Given the description of an element on the screen output the (x, y) to click on. 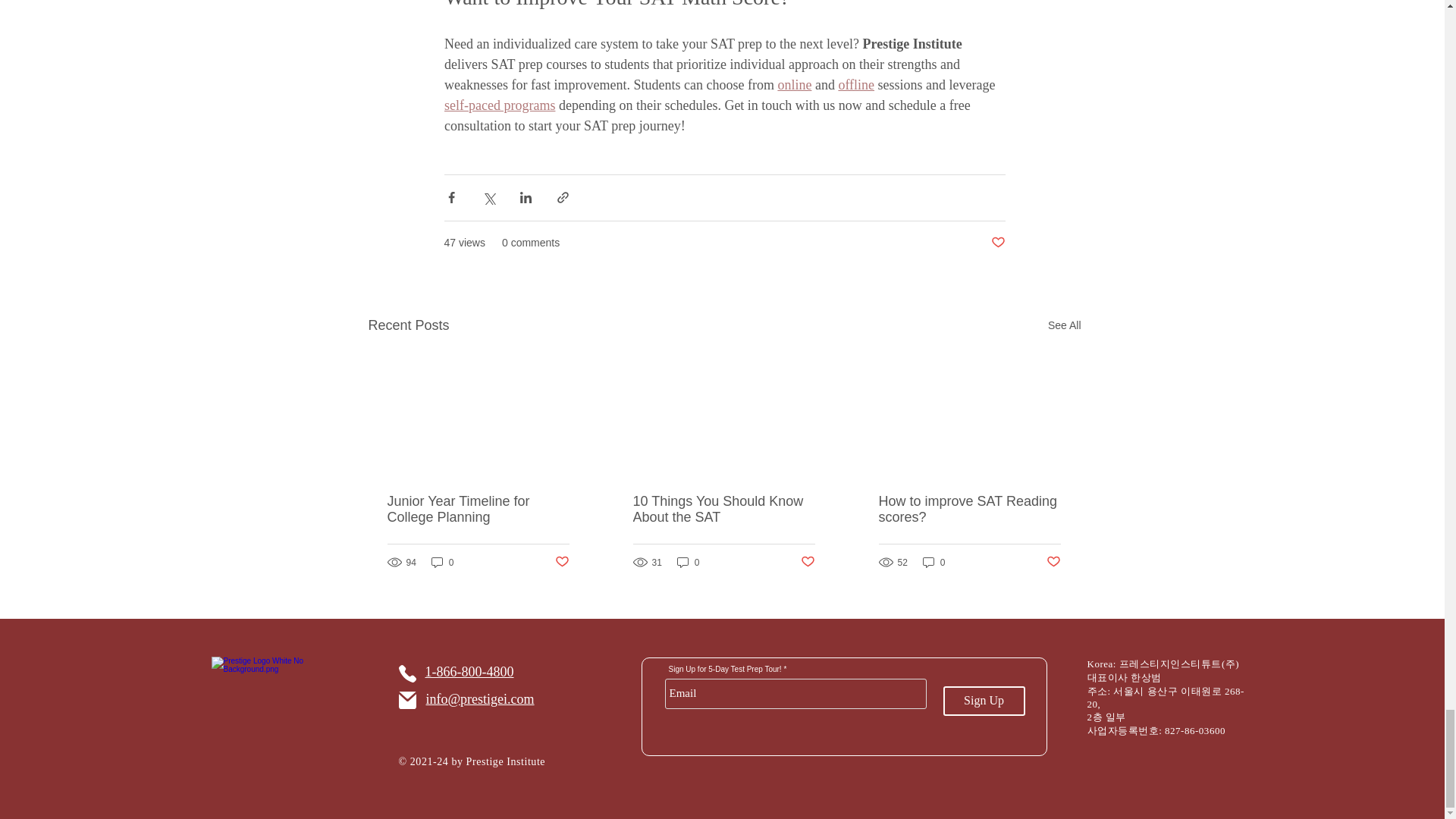
0 (442, 562)
online (793, 84)
Post not marked as liked (997, 242)
Post not marked as liked (561, 562)
Junior Year Timeline for College Planning (478, 509)
See All (1064, 325)
self-paced programs (499, 105)
offline (856, 84)
